Given the description of an element on the screen output the (x, y) to click on. 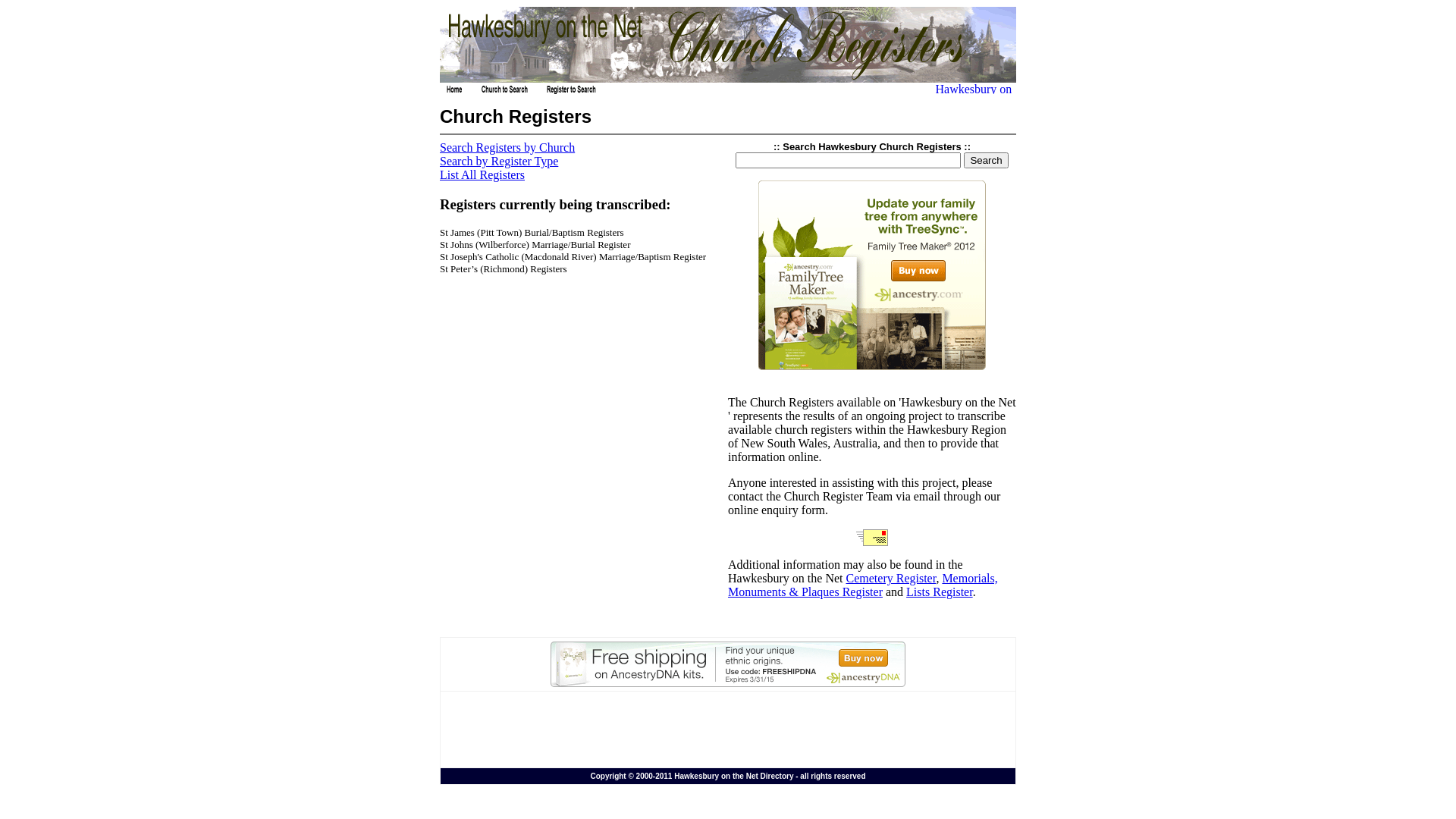
Cemetery Register Element type: text (891, 577)
Advertisement Element type: hover (727, 729)
Search Registers by Church Element type: text (506, 147)
Search Element type: text (985, 160)
List All Registers Element type: text (481, 174)
Lists Register Element type: text (939, 591)
Search by Register Type Element type: text (498, 160)
Memorials, Monuments & Plaques Register Element type: text (862, 584)
